Given the description of an element on the screen output the (x, y) to click on. 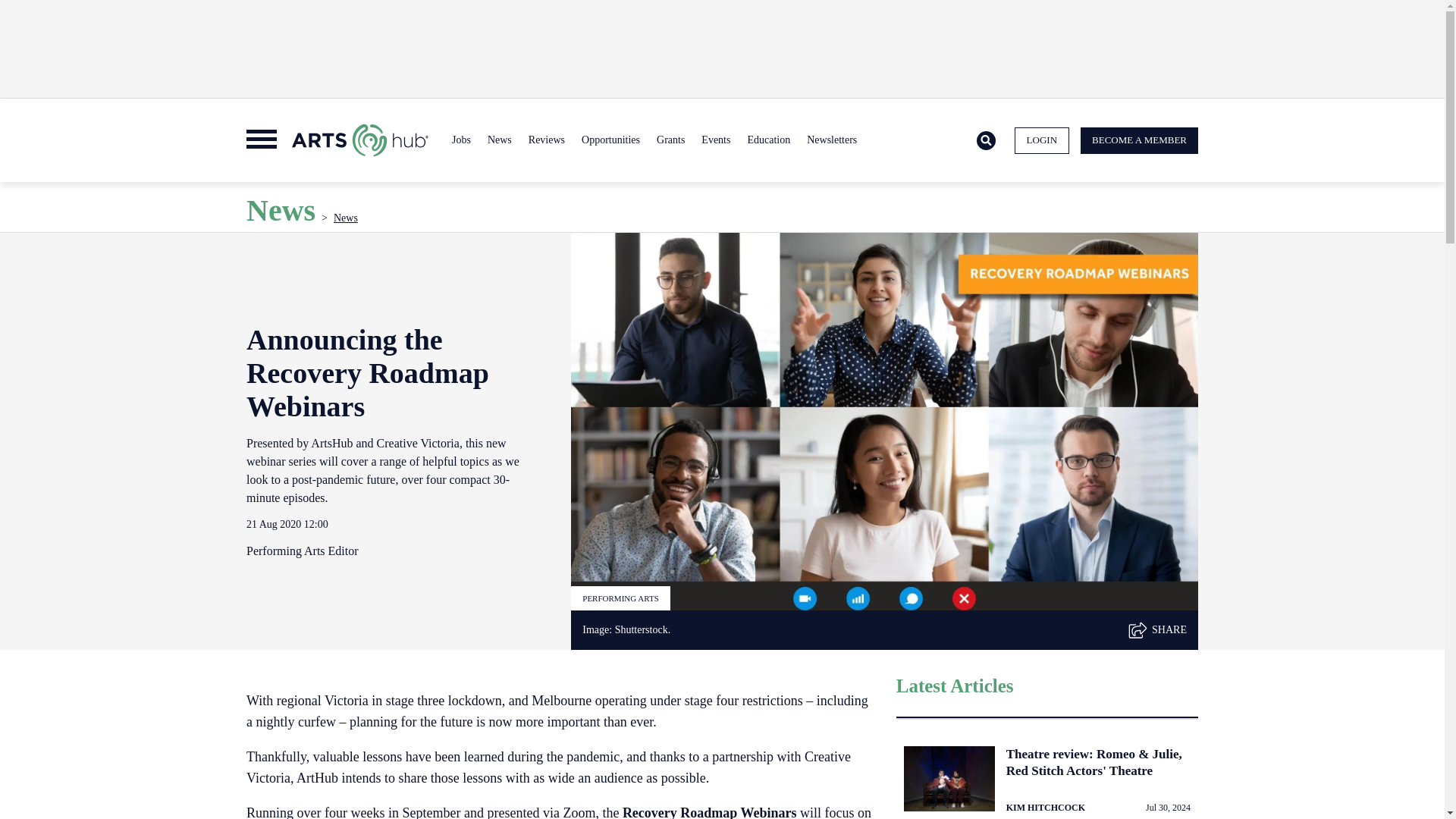
LOGIN (1041, 140)
BECOME A MEMBER (1139, 140)
News (498, 139)
Opportunities (610, 139)
Search Icon (985, 139)
Newsletters (832, 139)
Reviews (546, 139)
Events (715, 139)
Education (768, 139)
Search Icon (985, 140)
Grants (670, 139)
Jobs (461, 139)
